Given the description of an element on the screen output the (x, y) to click on. 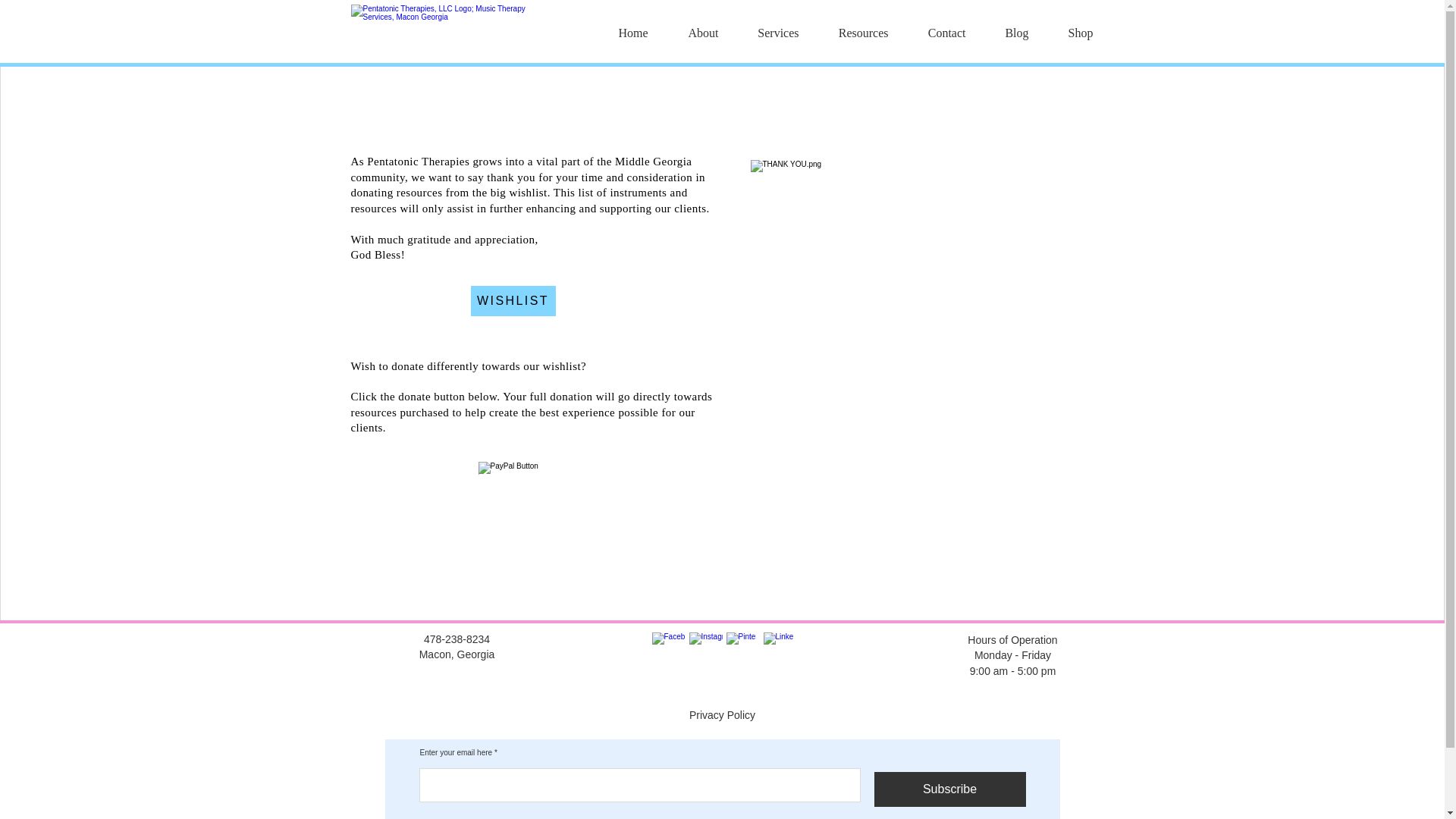
Subscribe (949, 789)
Shop (1073, 33)
Services (769, 33)
Privacy Policy (721, 715)
Resources (854, 33)
Home (624, 33)
478-238-8234 (456, 639)
WISHLIST (512, 300)
Blog (1007, 33)
About (694, 33)
